Given the description of an element on the screen output the (x, y) to click on. 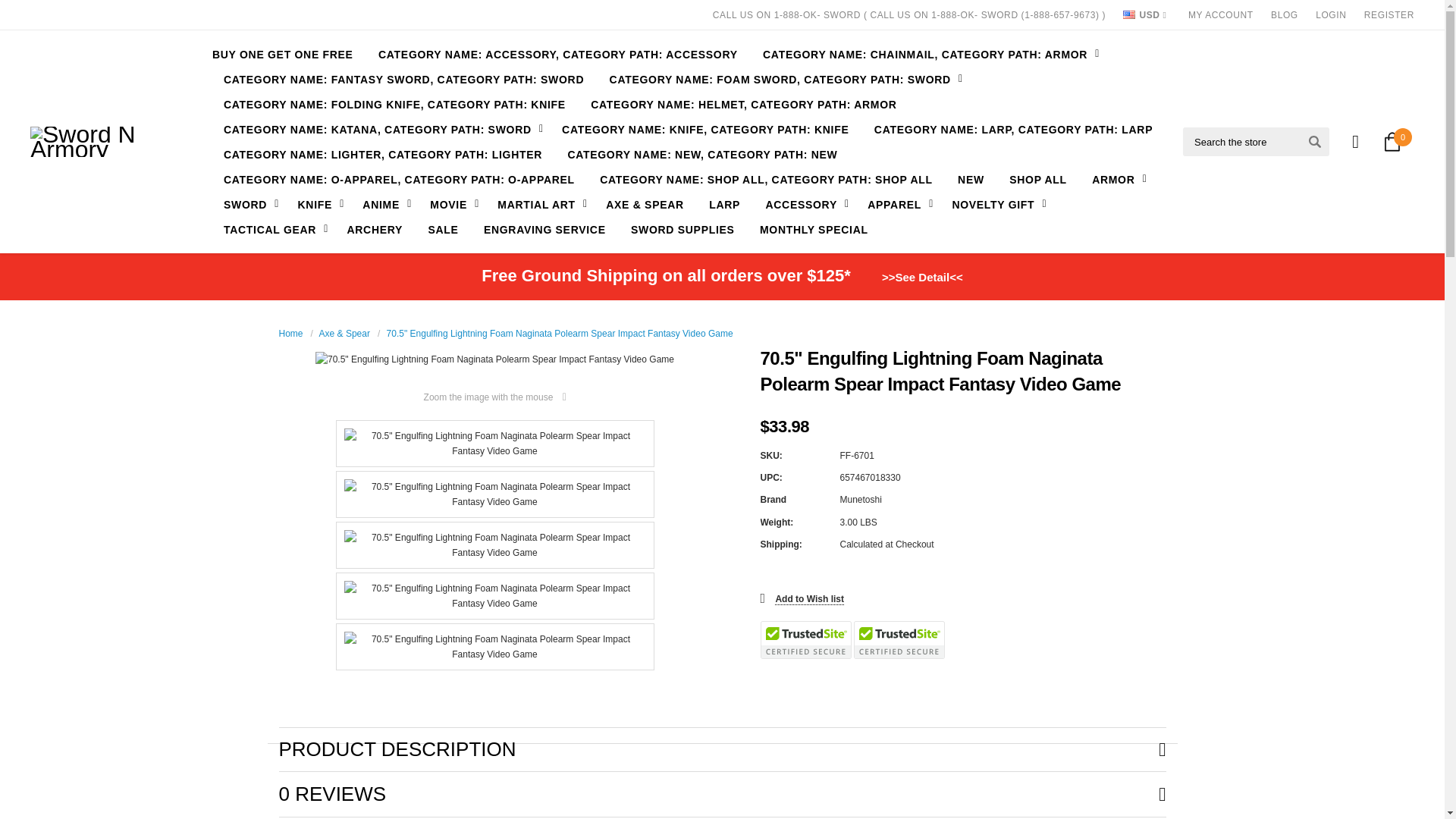
BLOG (1284, 14)
NEW (970, 179)
CATEGORY NAME: LARP, CATEGORY PATH: LARP (1013, 129)
TrustedSite Certified Secure (805, 639)
CATEGORY NAME: LIGHTER, CATEGORY PATH: LIGHTER (382, 154)
USD (1144, 14)
CATEGORY NAME: SHOP ALL, CATEGORY PATH: SHOP ALL (765, 179)
Blog (1284, 14)
CATEGORY NAME: FANTASY SWORD, CATEGORY PATH: SWORD (403, 78)
